Given the description of an element on the screen output the (x, y) to click on. 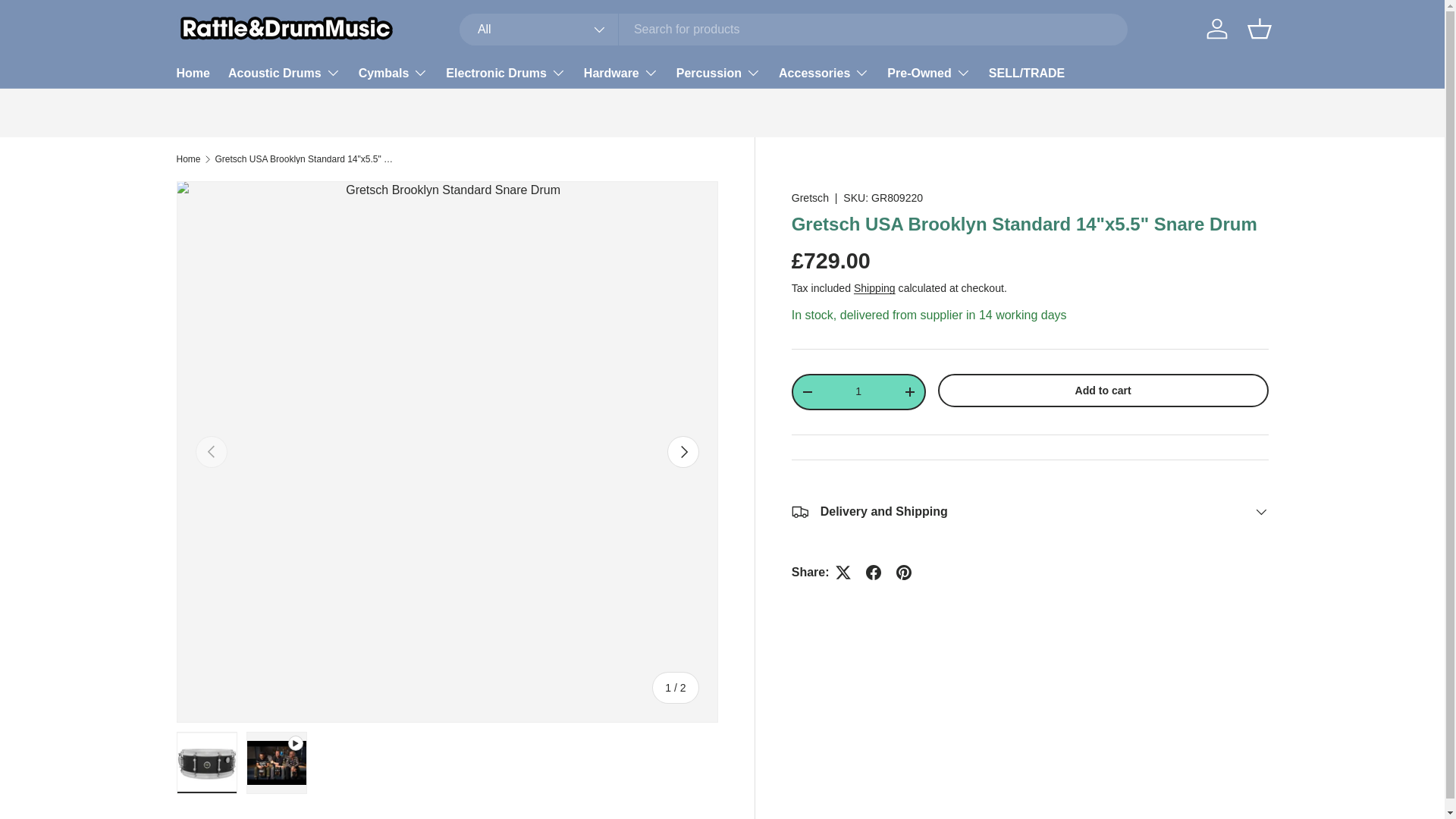
1 (858, 391)
Log in (1216, 28)
Pin on Pinterest (903, 572)
Skip to content (69, 21)
Cymbals (393, 72)
Tweet on X (843, 572)
Share on Facebook (873, 572)
Acoustic Drums (284, 72)
All (539, 29)
Basket (1258, 28)
Home (192, 72)
